Given the description of an element on the screen output the (x, y) to click on. 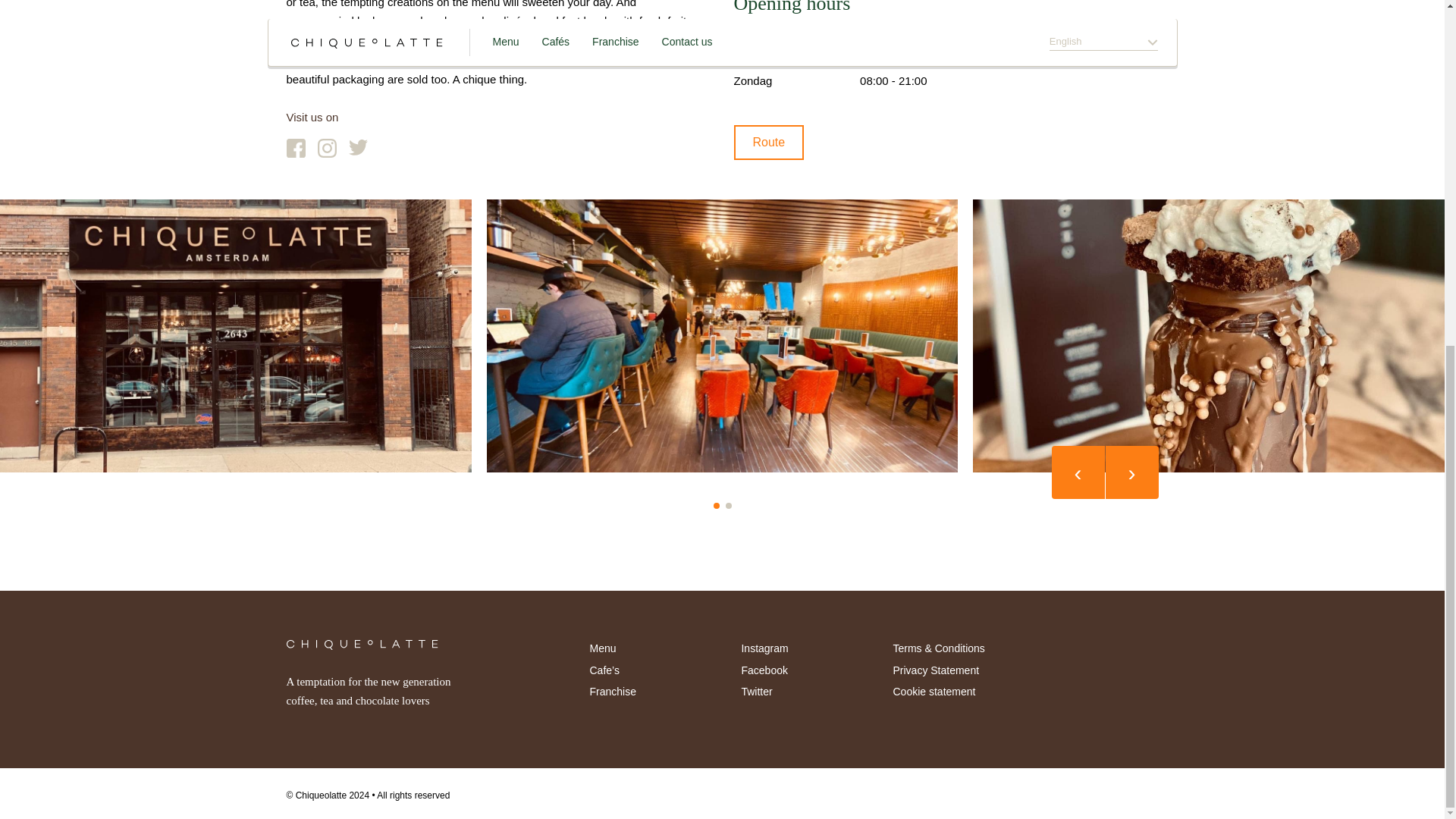
Franchise (611, 691)
Menu (602, 648)
Cookie statement (933, 691)
Privacy Statement (935, 670)
Twitter (756, 691)
Facebook (764, 670)
Route (769, 142)
Instagram (764, 648)
